Given the description of an element on the screen output the (x, y) to click on. 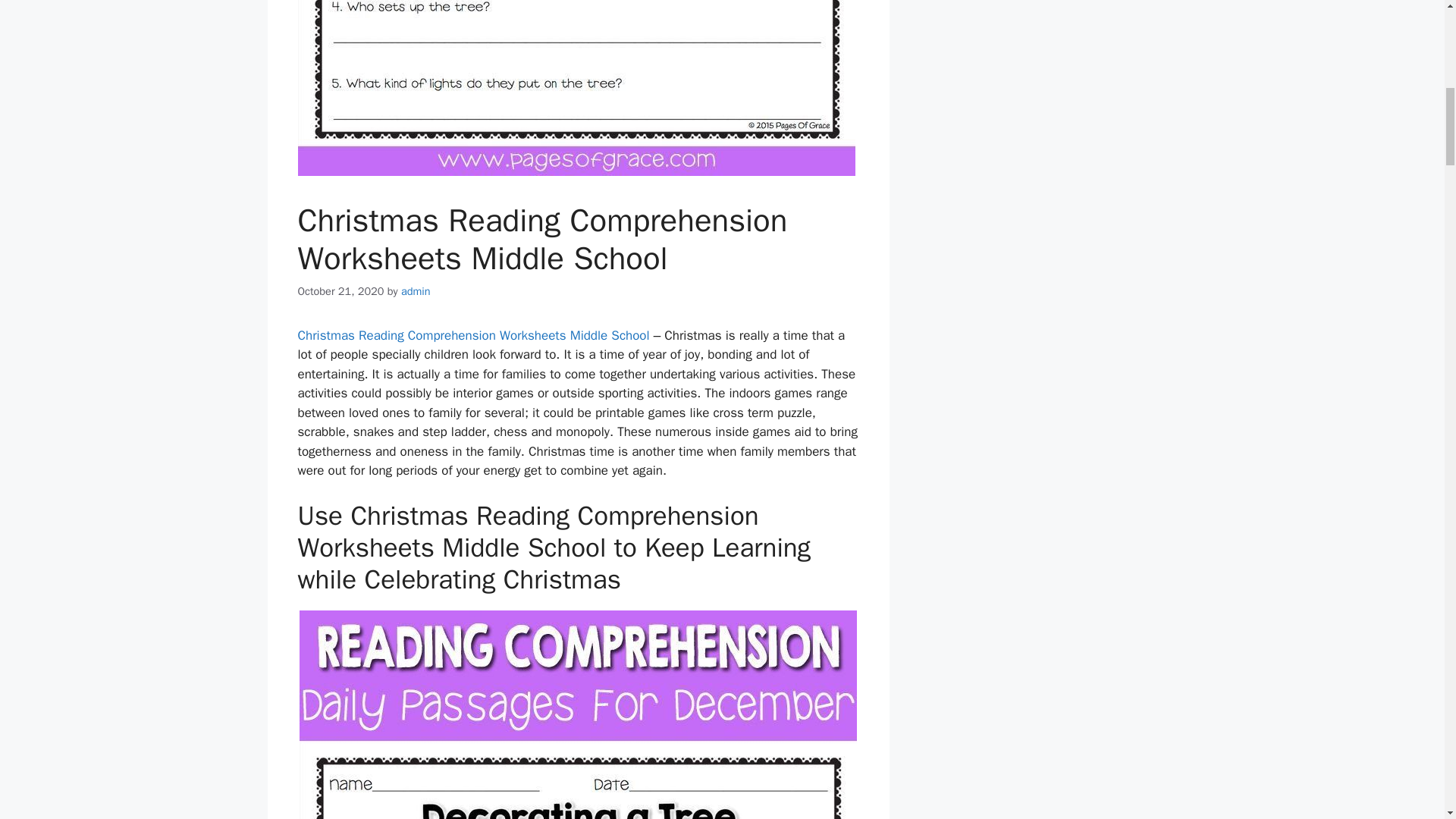
admin (415, 291)
View all posts by admin (415, 291)
Christmas Reading Comprehension Worksheets Middle School (473, 335)
